Given the description of an element on the screen output the (x, y) to click on. 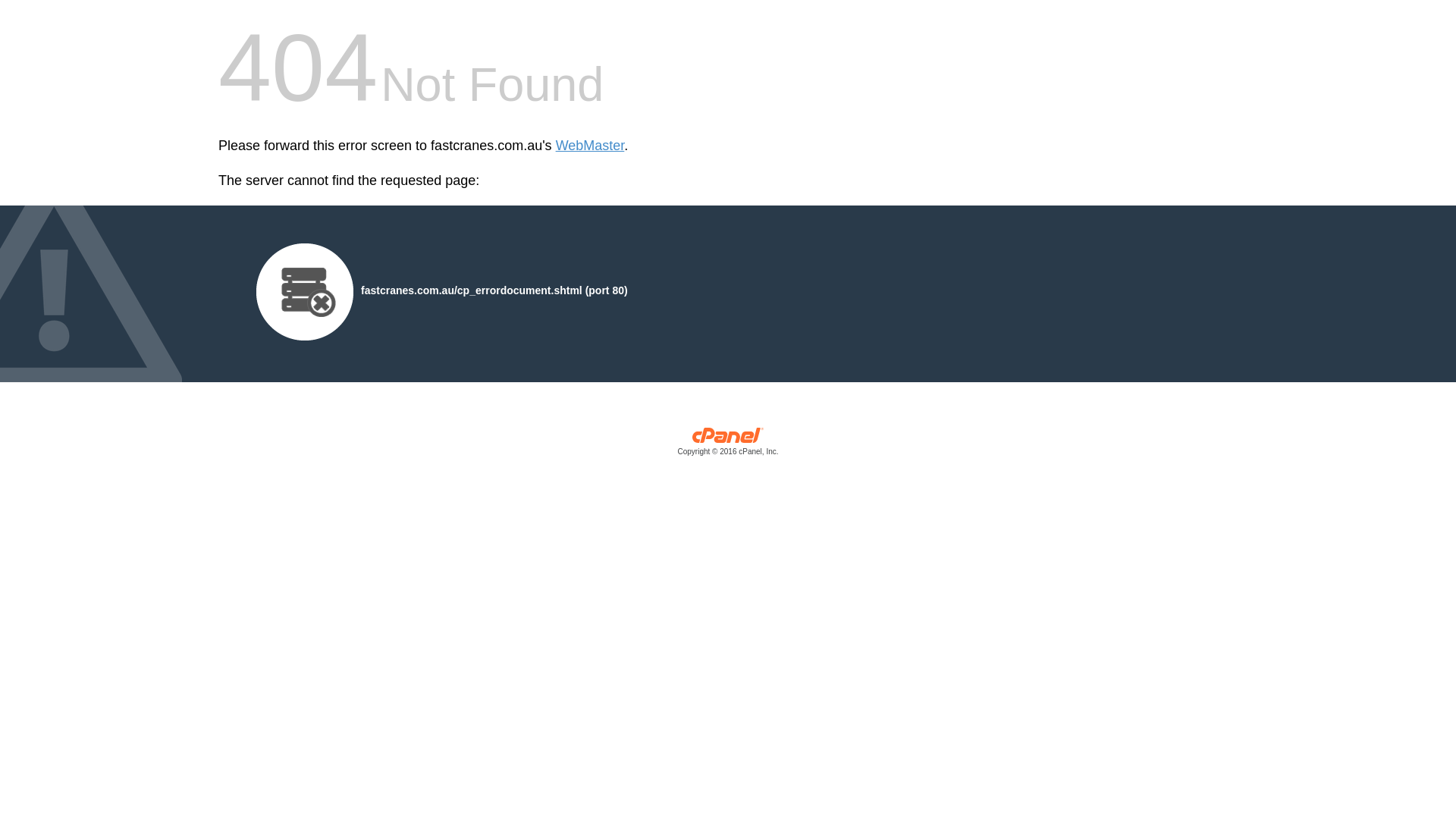
WebMaster Element type: text (589, 145)
